Given the description of an element on the screen output the (x, y) to click on. 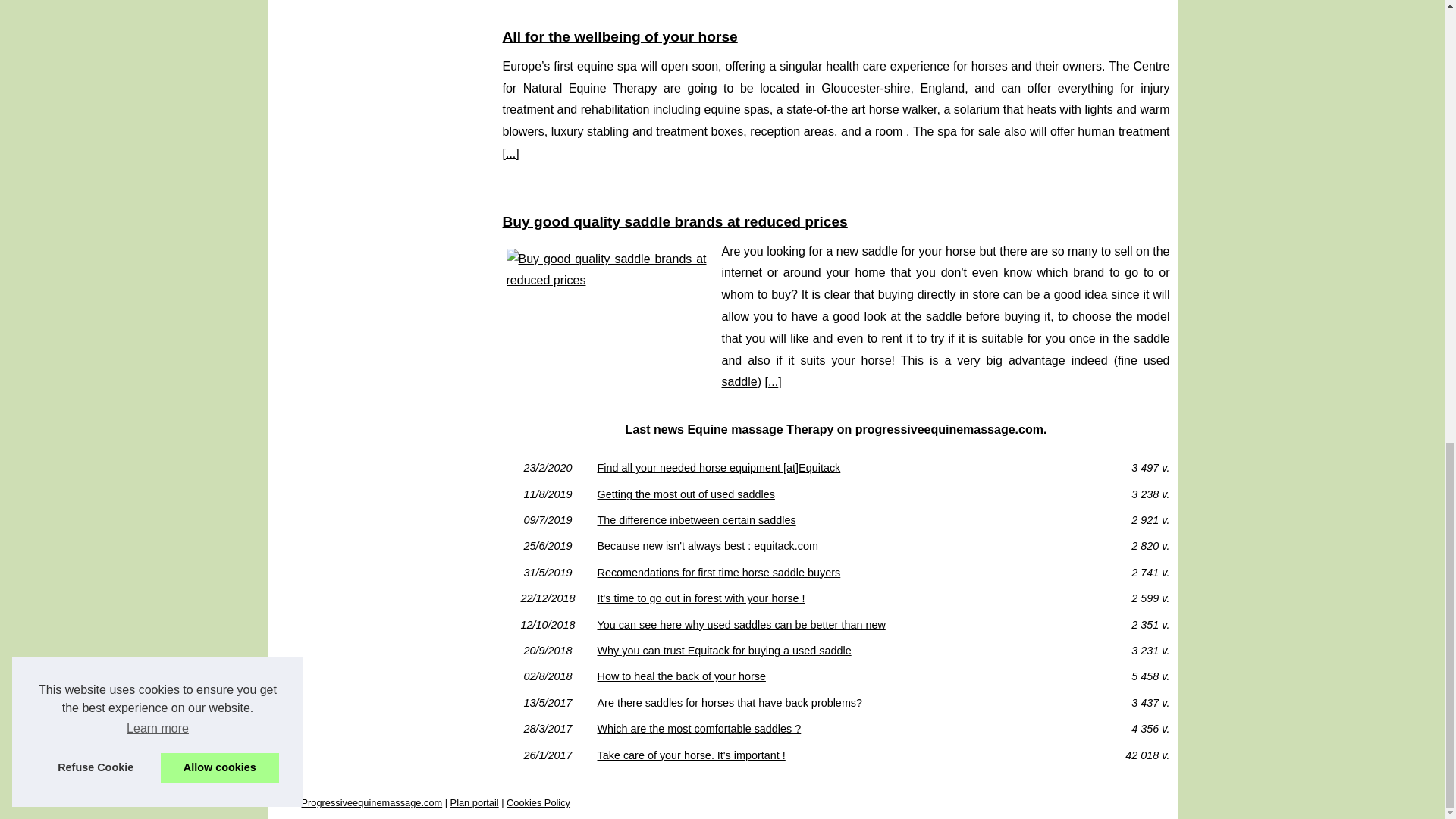
The difference inbetween certain saddles (835, 520)
Because new isn't always best : equitack.com (835, 545)
You can see here why used saddles can be better than new (835, 624)
All for the wellbeing of your horse (619, 36)
Buy good quality saddle brands at reduced prices (606, 315)
Getting the most out of used saddles (835, 493)
Which are the most comfortable saddles ? (835, 728)
Take care of your horse. It's important ! (835, 755)
It's time to go out in forest with your horse ! (835, 597)
Buy good quality saddle brands at reduced prices (674, 221)
